Given the description of an element on the screen output the (x, y) to click on. 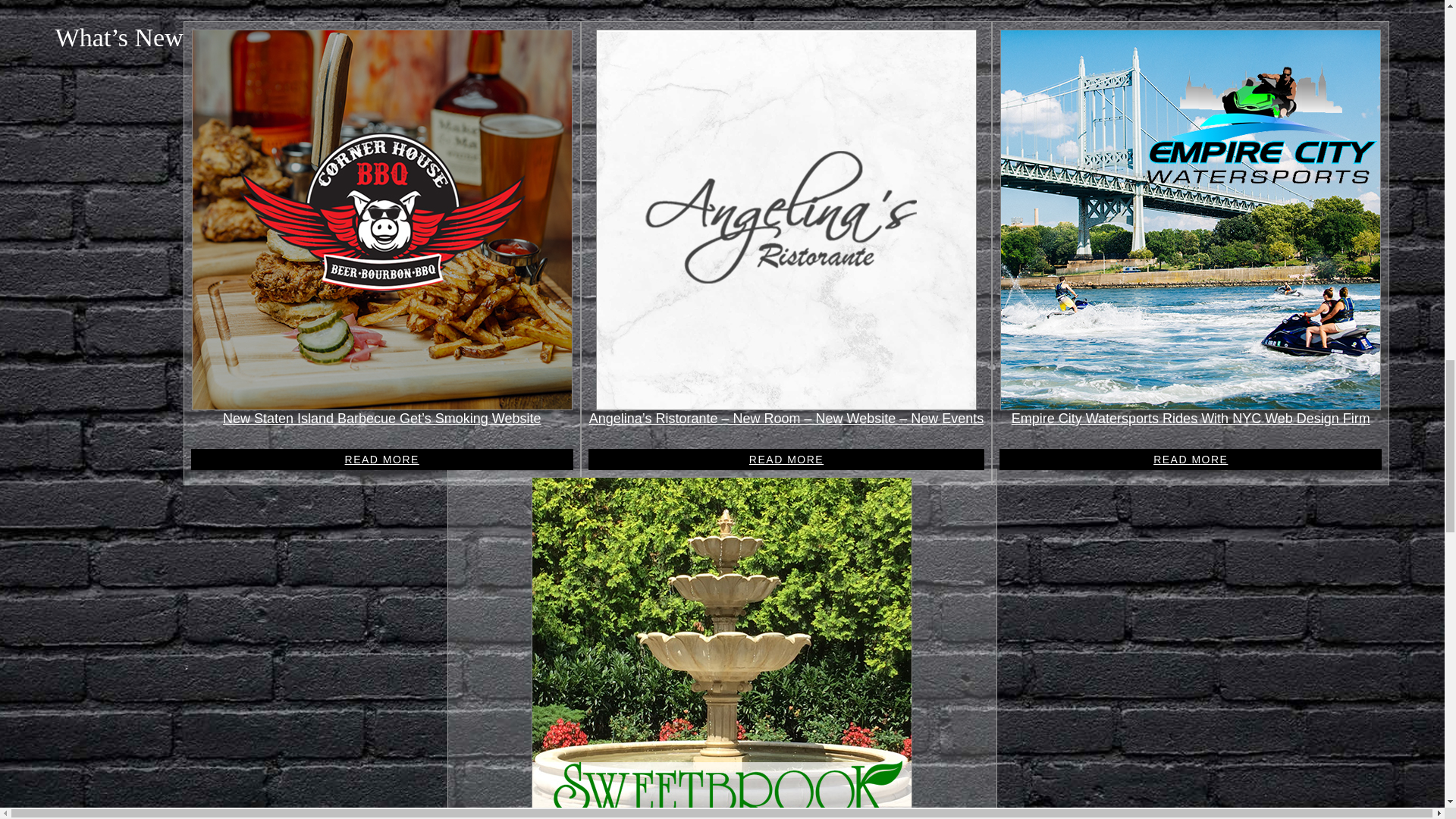
READ MORE (786, 459)
Empire City Watersports Rides With NYC Web Design Firm (1190, 418)
READ MORE (1190, 459)
Empire City Watersports Rides With NYC Web Design Firm (1190, 418)
READ MORE (382, 459)
